Given the description of an element on the screen output the (x, y) to click on. 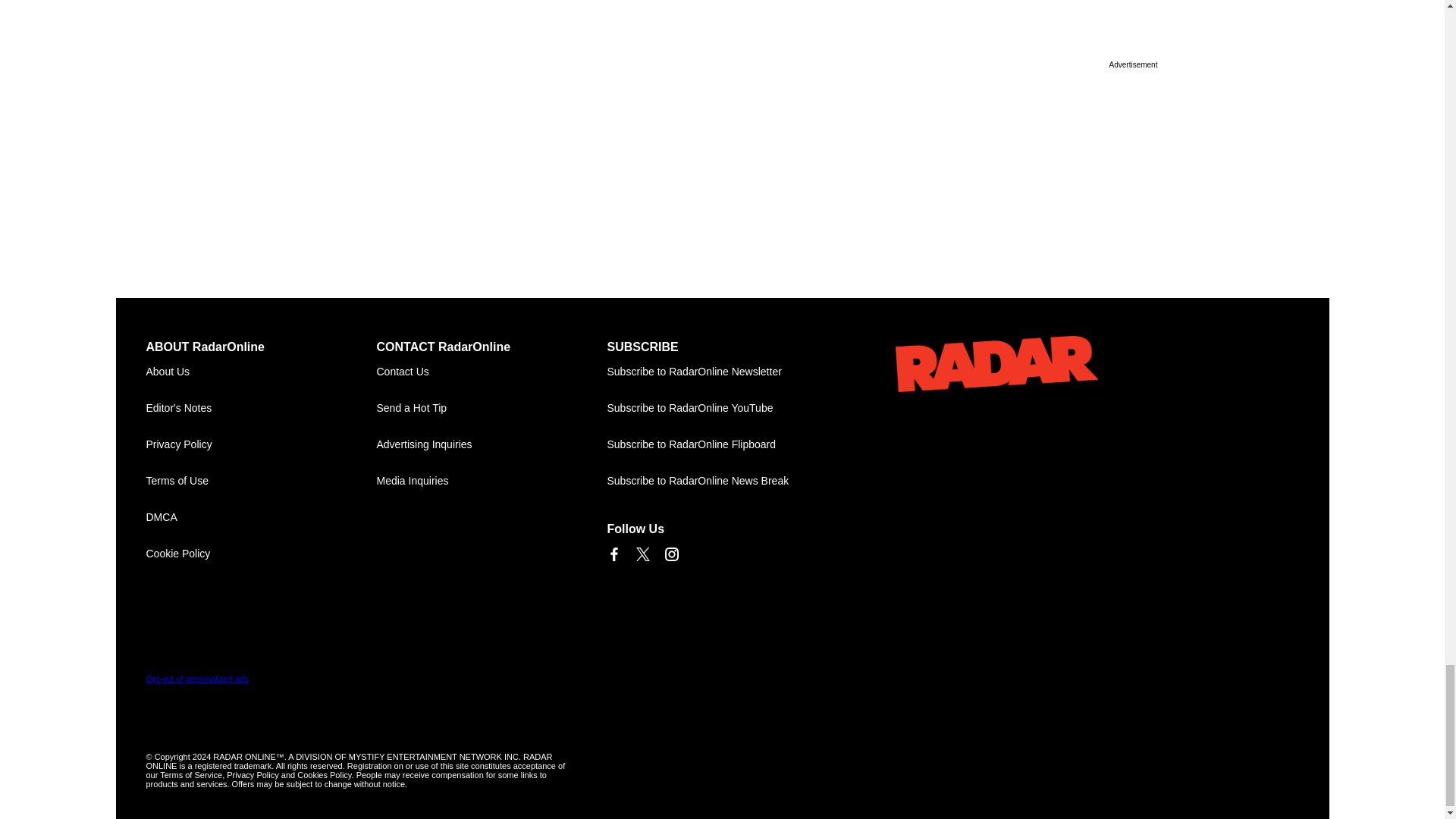
Send a Hot Tip (491, 408)
Link to Facebook (613, 554)
DMCA (260, 517)
Cookie Policy (260, 554)
Privacy Policy (260, 444)
Terms of Use (260, 481)
Contact Us (491, 371)
Link to X (641, 554)
Subscribe (722, 371)
Advertising Inquiries (491, 444)
